Given the description of an element on the screen output the (x, y) to click on. 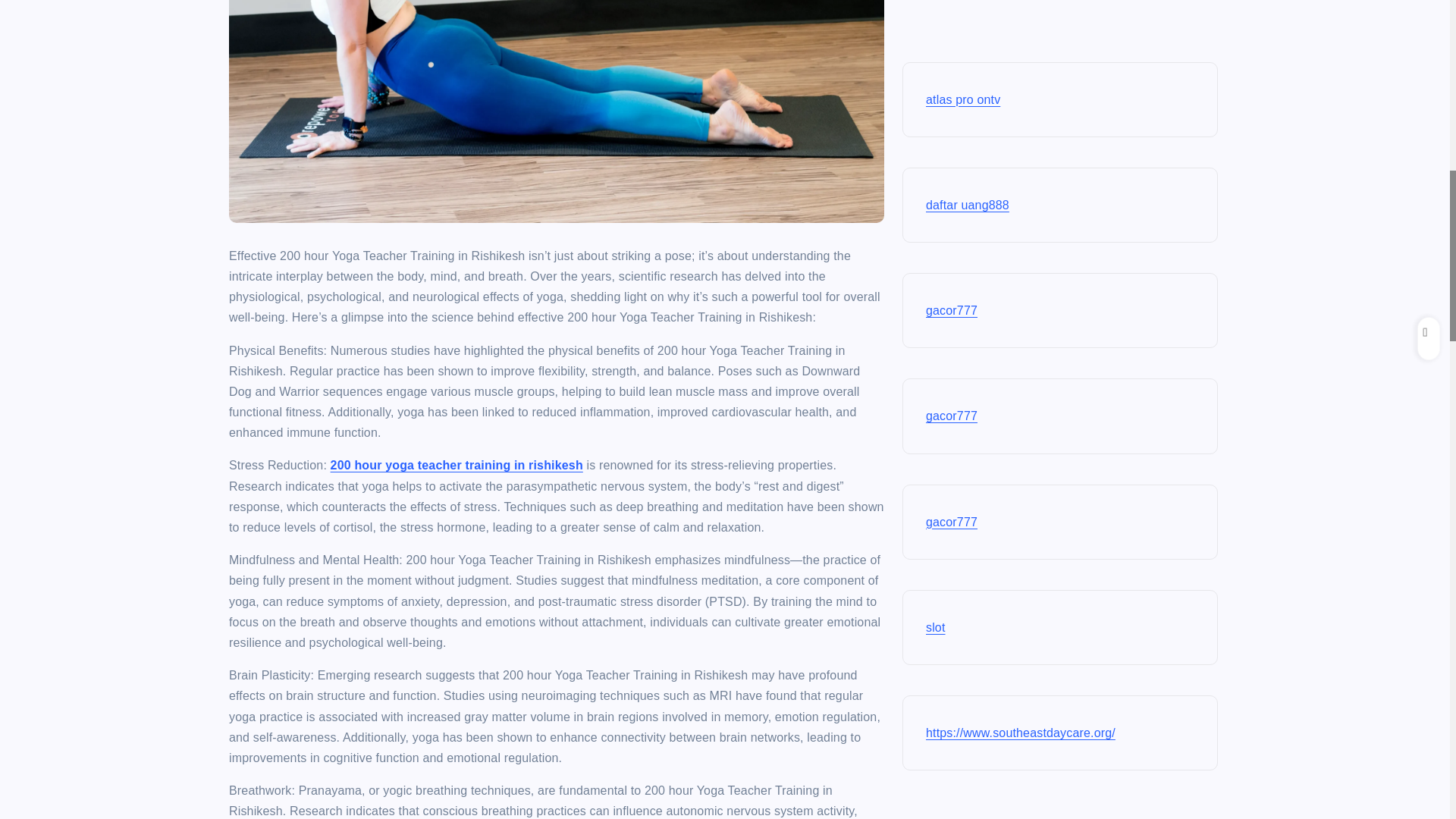
200 hour yoga teacher training in rishikesh (456, 464)
